Given the description of an element on the screen output the (x, y) to click on. 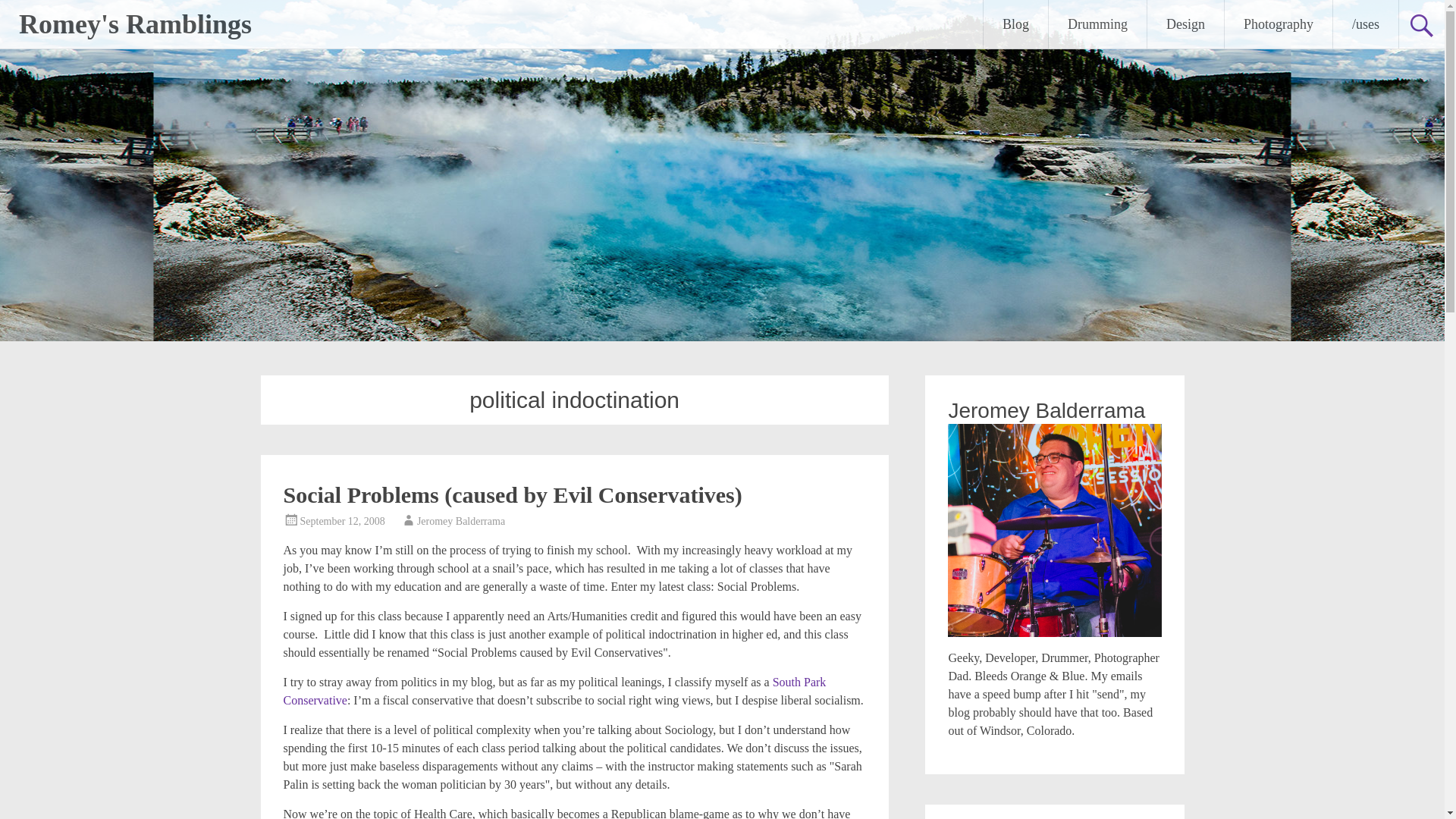
South Park Conservative (555, 690)
Photography (1278, 24)
September 12, 2008 (342, 521)
Blog (1016, 24)
Uses (1365, 24)
Romey's Ramblings (134, 24)
Blog (1016, 24)
Drumming (1097, 24)
Jeromey Balderrama (460, 521)
Romey's Ramblings (134, 24)
Design (1185, 24)
